Given the description of an element on the screen output the (x, y) to click on. 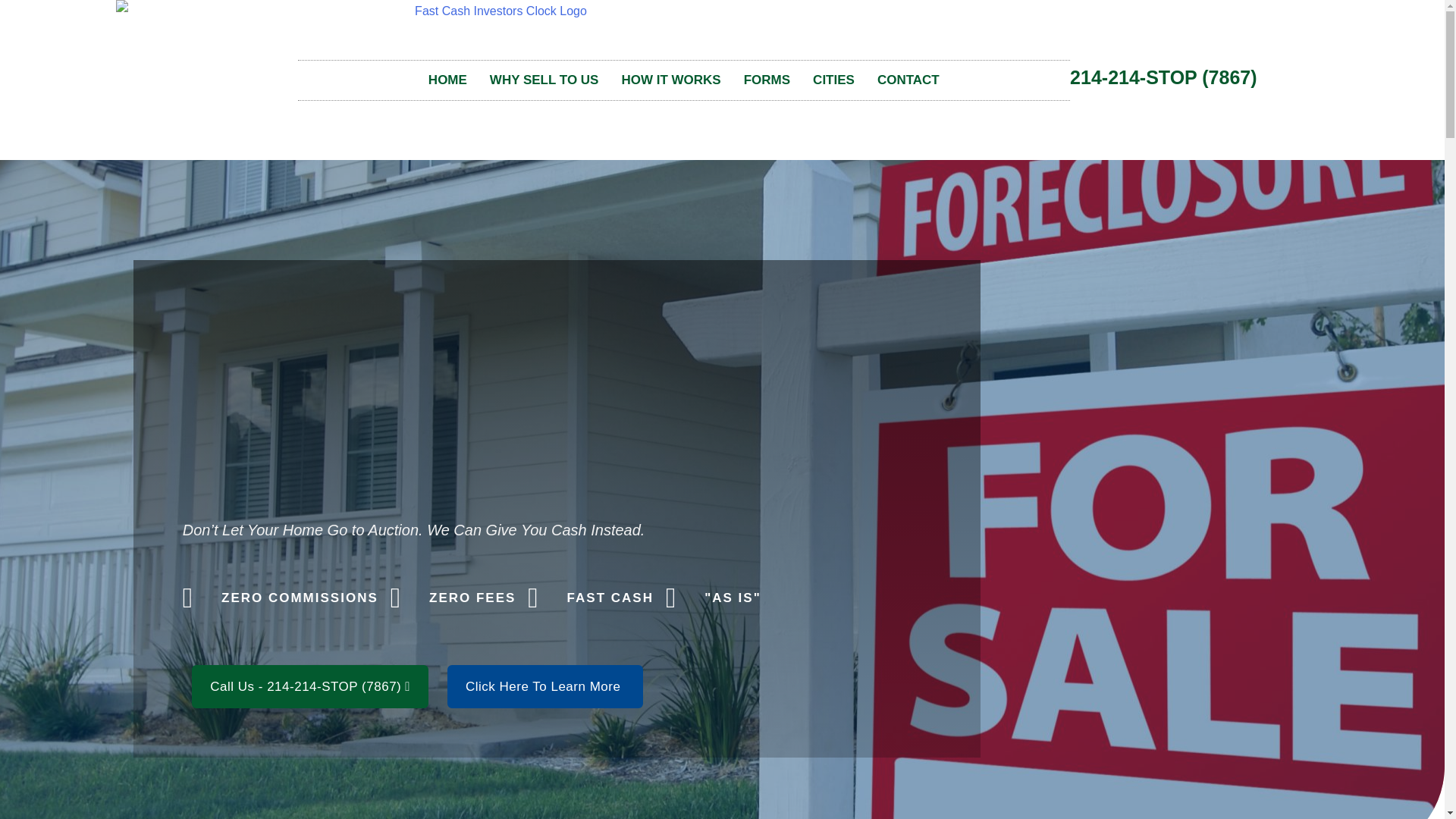
Click Here To Learn More (544, 686)
CONTACT (908, 79)
HOME (447, 79)
CITIES (834, 79)
HOW IT WORKS (671, 79)
WHY SELL TO US (544, 79)
FORMS (767, 79)
